Given the description of an element on the screen output the (x, y) to click on. 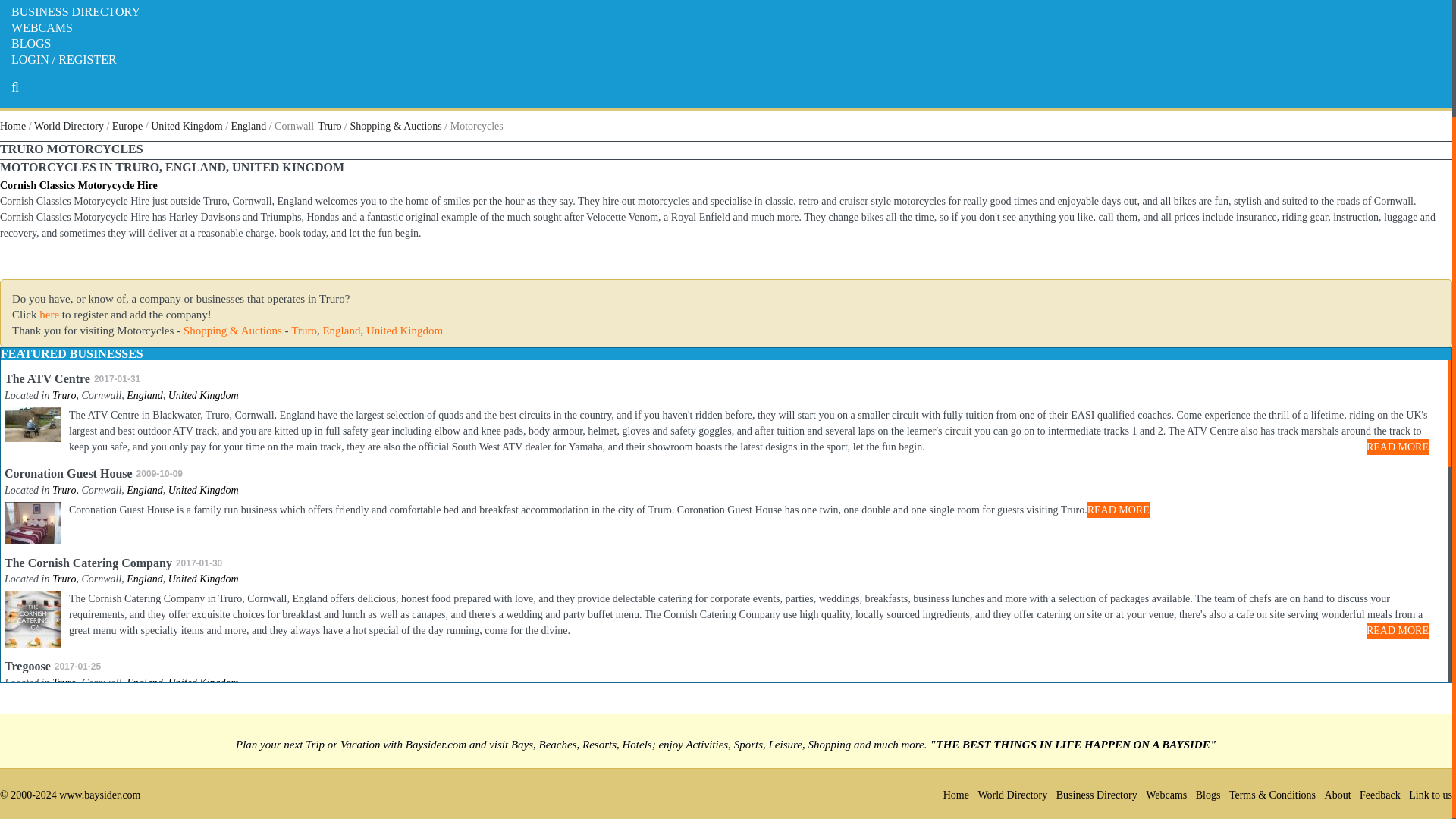
Truro (328, 125)
World Business, Service and Attractions Directory (68, 125)
Coronation Guest House (68, 472)
England (340, 330)
Truro (63, 578)
Cornish Classics Motorycycle Hire (78, 184)
United Kingdom (186, 125)
Truro (63, 490)
READ MORE (1397, 446)
Businesses and services in Truro (63, 395)
United Kingdom (203, 395)
The Cornish Catering Company (87, 562)
England (340, 330)
England (143, 395)
Truro (328, 125)
